Given the description of an element on the screen output the (x, y) to click on. 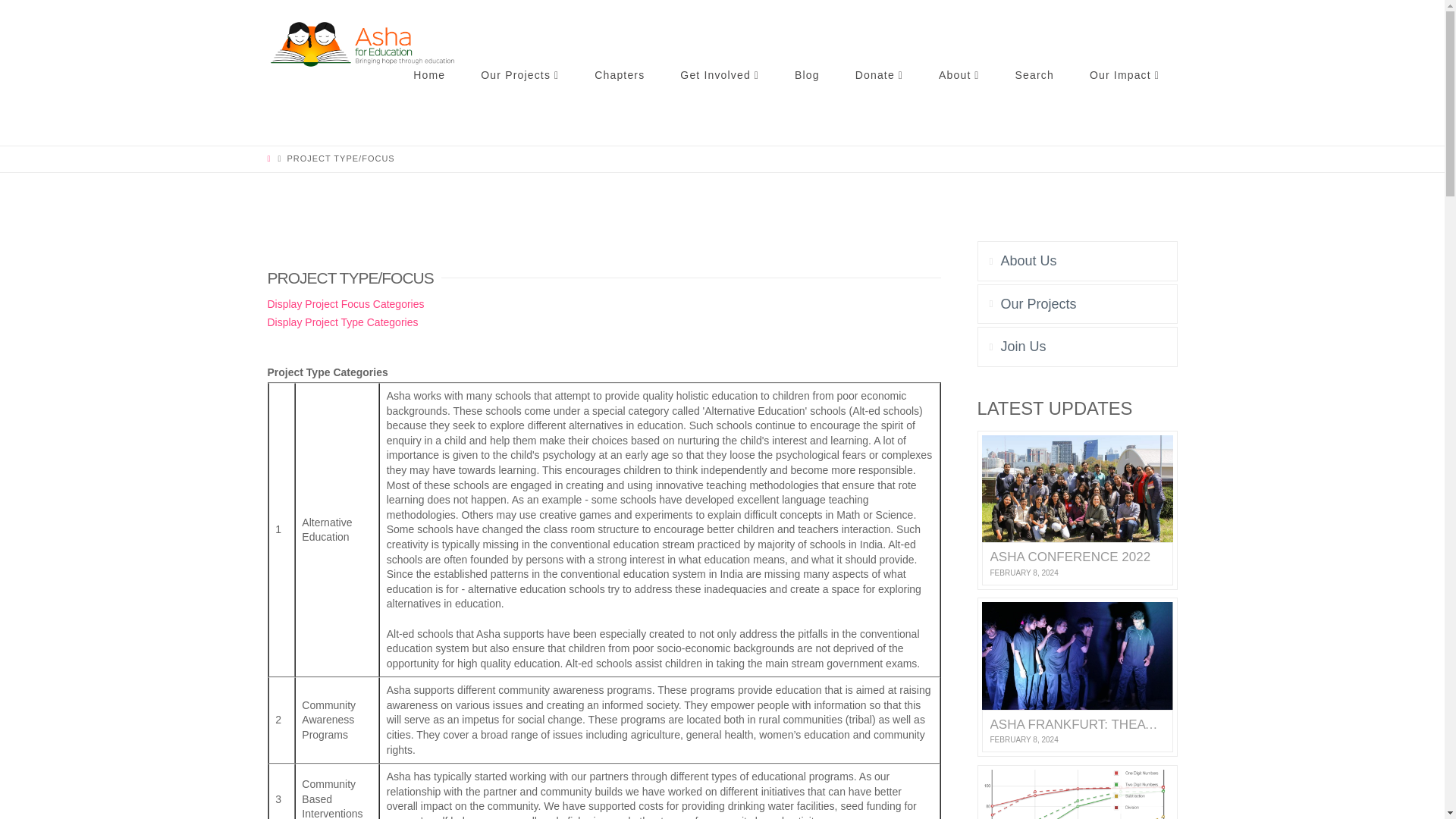
Permalink to: "Asha Conference 2022" (1076, 509)
Search (1034, 107)
Our Projects (519, 107)
Chapters (619, 107)
Get Involved (719, 107)
About (959, 107)
Home (429, 107)
Permalink to: "Asha Chennai Impact Assessment 2022" (1076, 791)
